Given the description of an element on the screen output the (x, y) to click on. 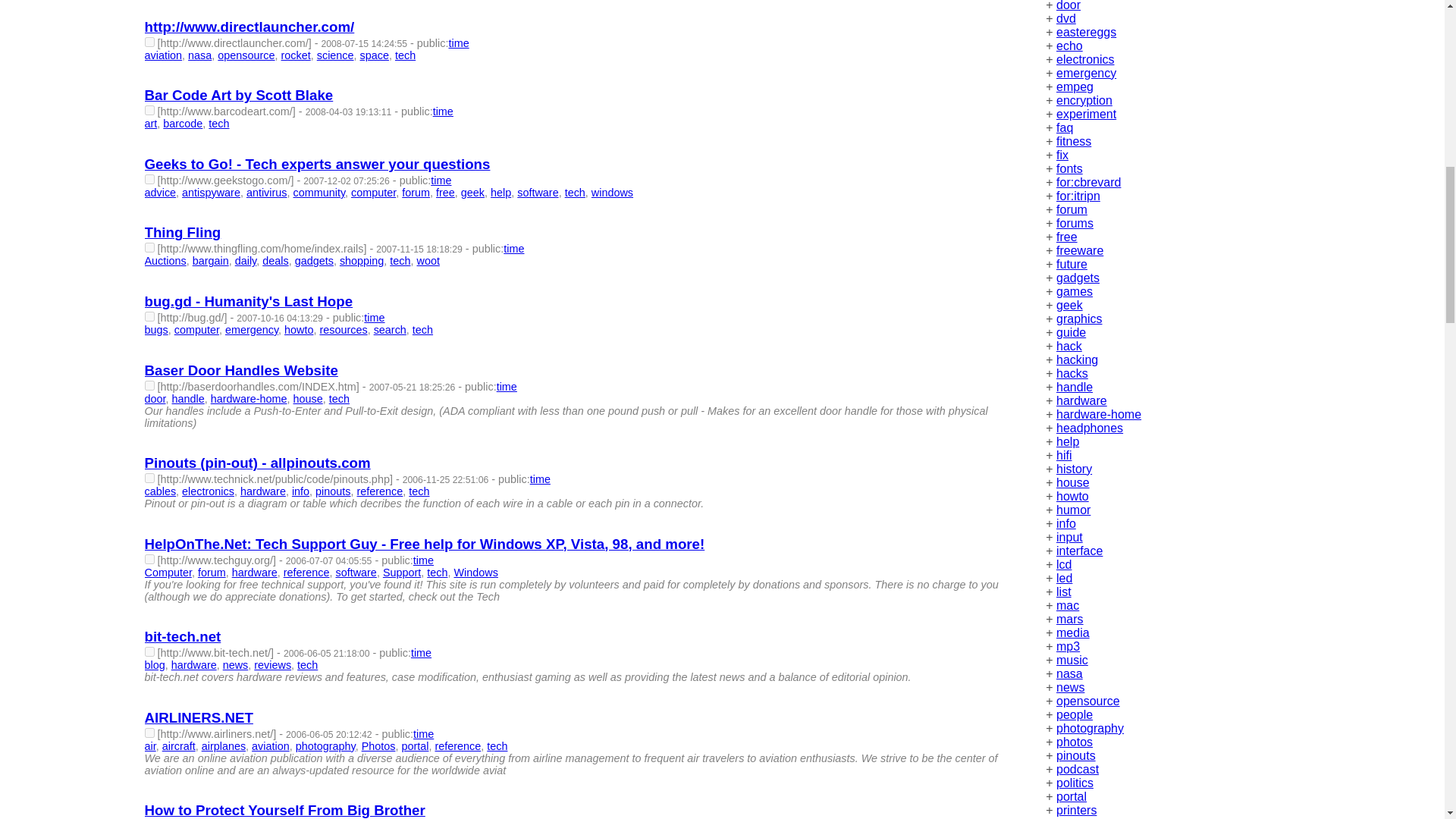
4172 (149, 110)
4320 (149, 316)
4606 (149, 478)
4414 (149, 385)
4828 (149, 559)
4887 (149, 651)
4273 (149, 179)
4293 (149, 247)
4100 (149, 41)
